Given the description of an element on the screen output the (x, y) to click on. 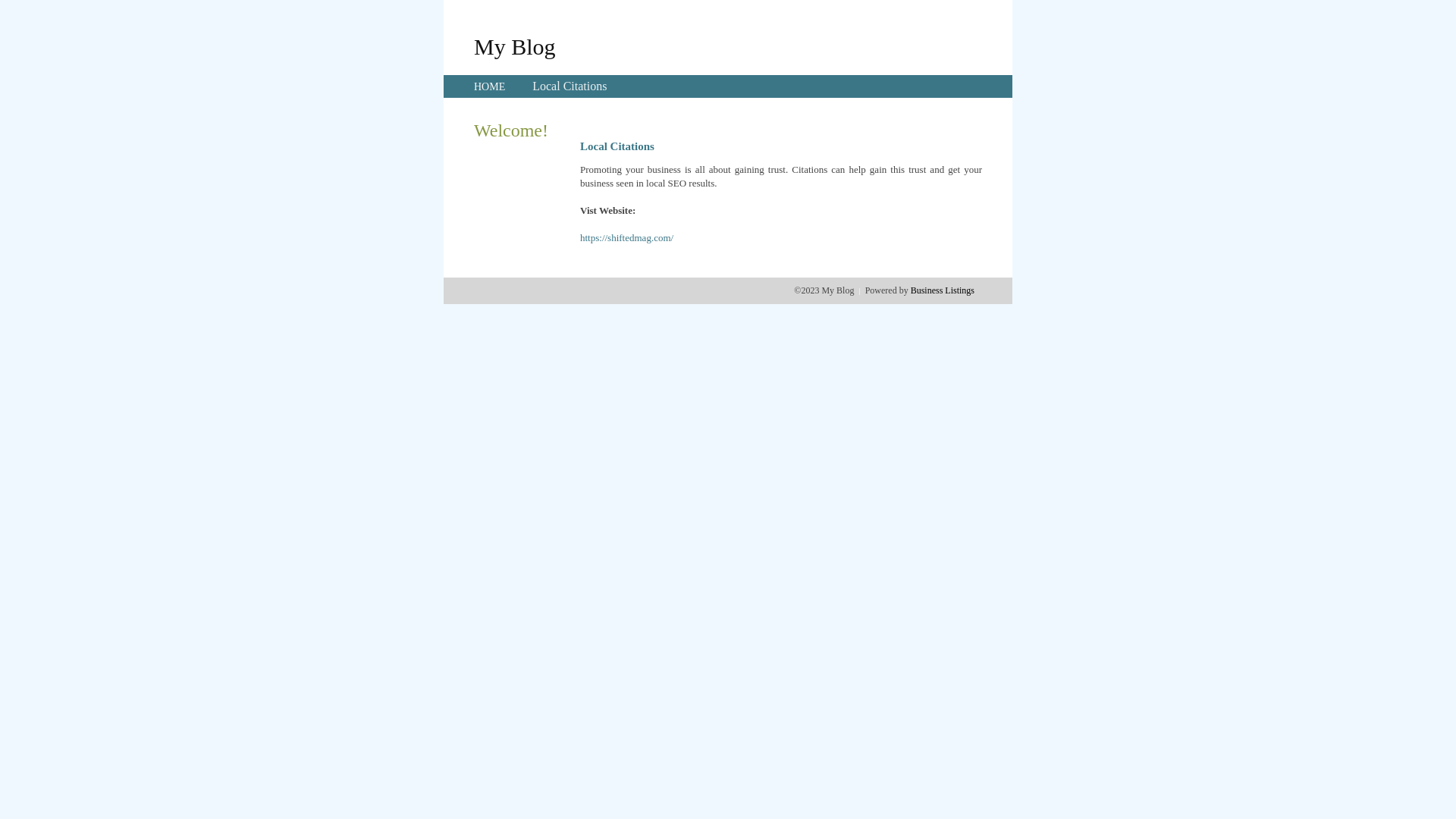
https://shiftedmag.com/ Element type: text (626, 237)
My Blog Element type: text (514, 46)
Business Listings Element type: text (942, 290)
HOME Element type: text (489, 86)
Local Citations Element type: text (569, 85)
